Given the description of an element on the screen output the (x, y) to click on. 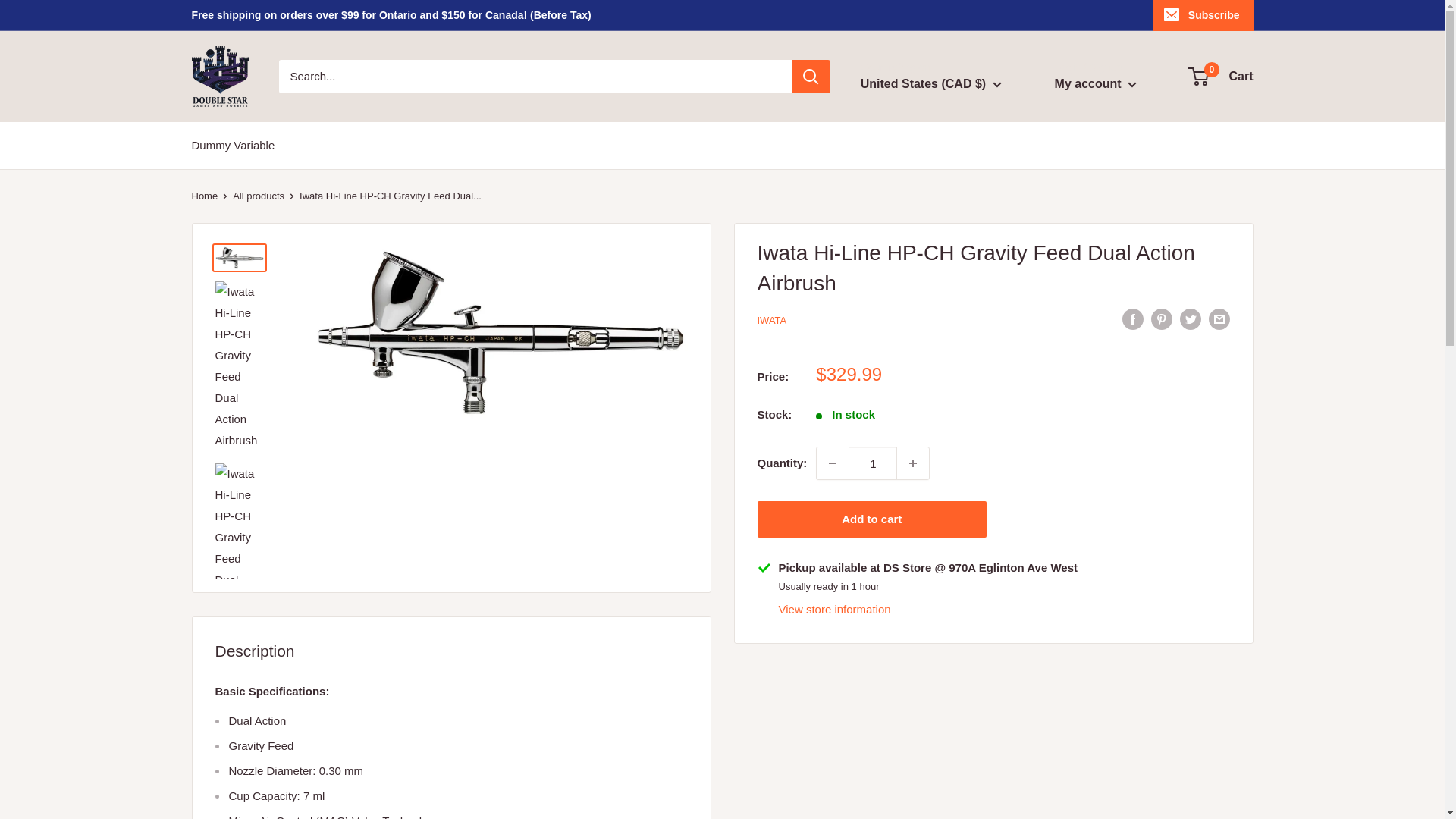
All products (257, 195)
Increase quantity by 1 (912, 463)
CA (954, 123)
Home (203, 195)
Subscribe (1203, 15)
Decrease quantity by 1 (832, 463)
US (954, 145)
Dummy Variable (232, 145)
Double Star Games And Hobbies (218, 76)
My account (1095, 83)
IWATA (1220, 76)
1 (771, 319)
